Given the description of an element on the screen output the (x, y) to click on. 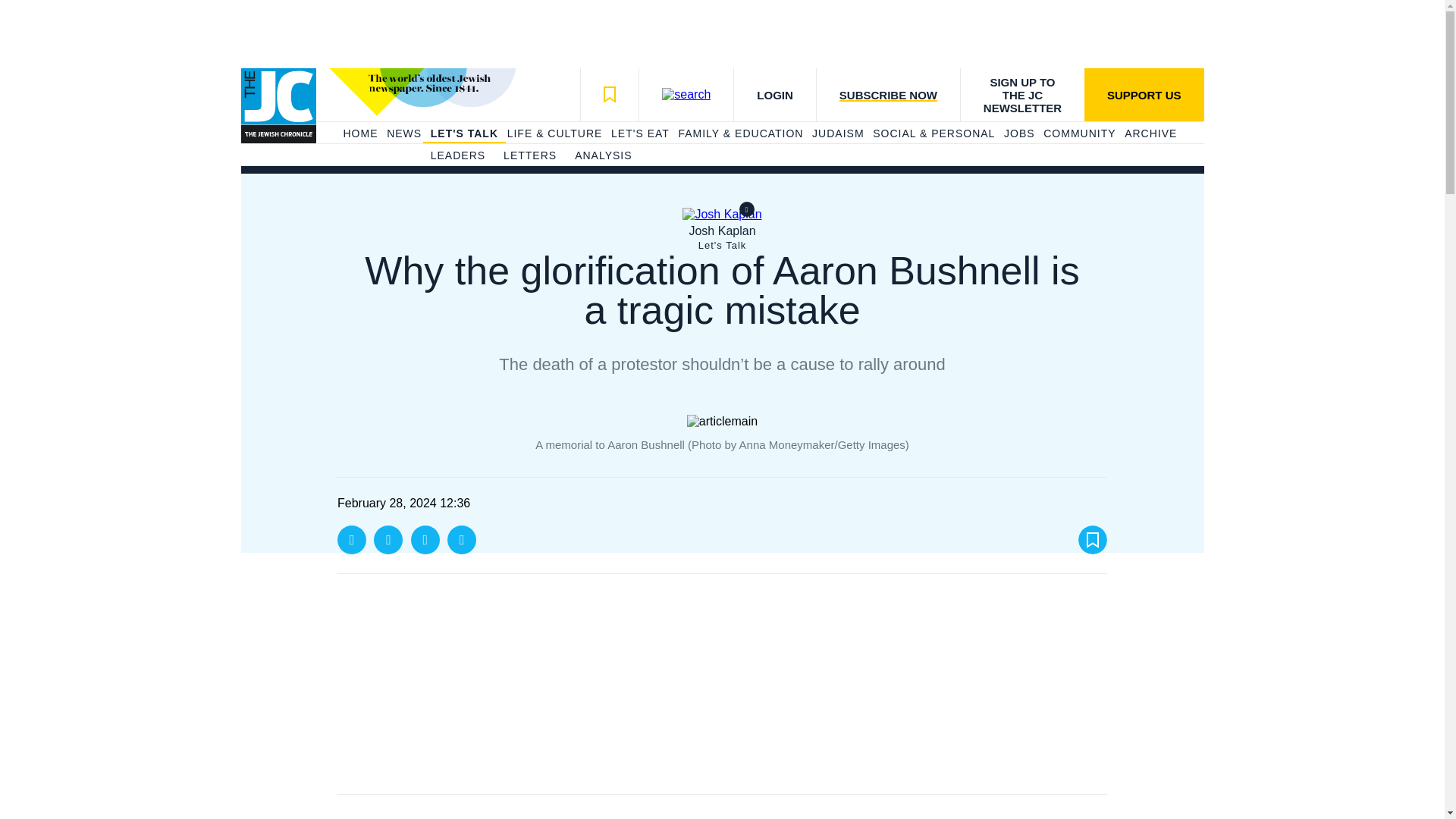
JOBS (1019, 133)
ARCHIVE (1150, 133)
NEWS (404, 133)
SUBSCRIBE NOW (887, 94)
COMMUNITY (1079, 133)
JUDAISM (837, 133)
ANALYSIS (603, 155)
LOGIN (774, 94)
LET'S EAT (640, 133)
SIGN UP TO THE JC NEWSLETTER (1021, 94)
LEADERS (457, 155)
HOME (359, 133)
LET'S TALK (463, 133)
LETTERS (529, 155)
SUPPORT US (1144, 94)
